Given the description of an element on the screen output the (x, y) to click on. 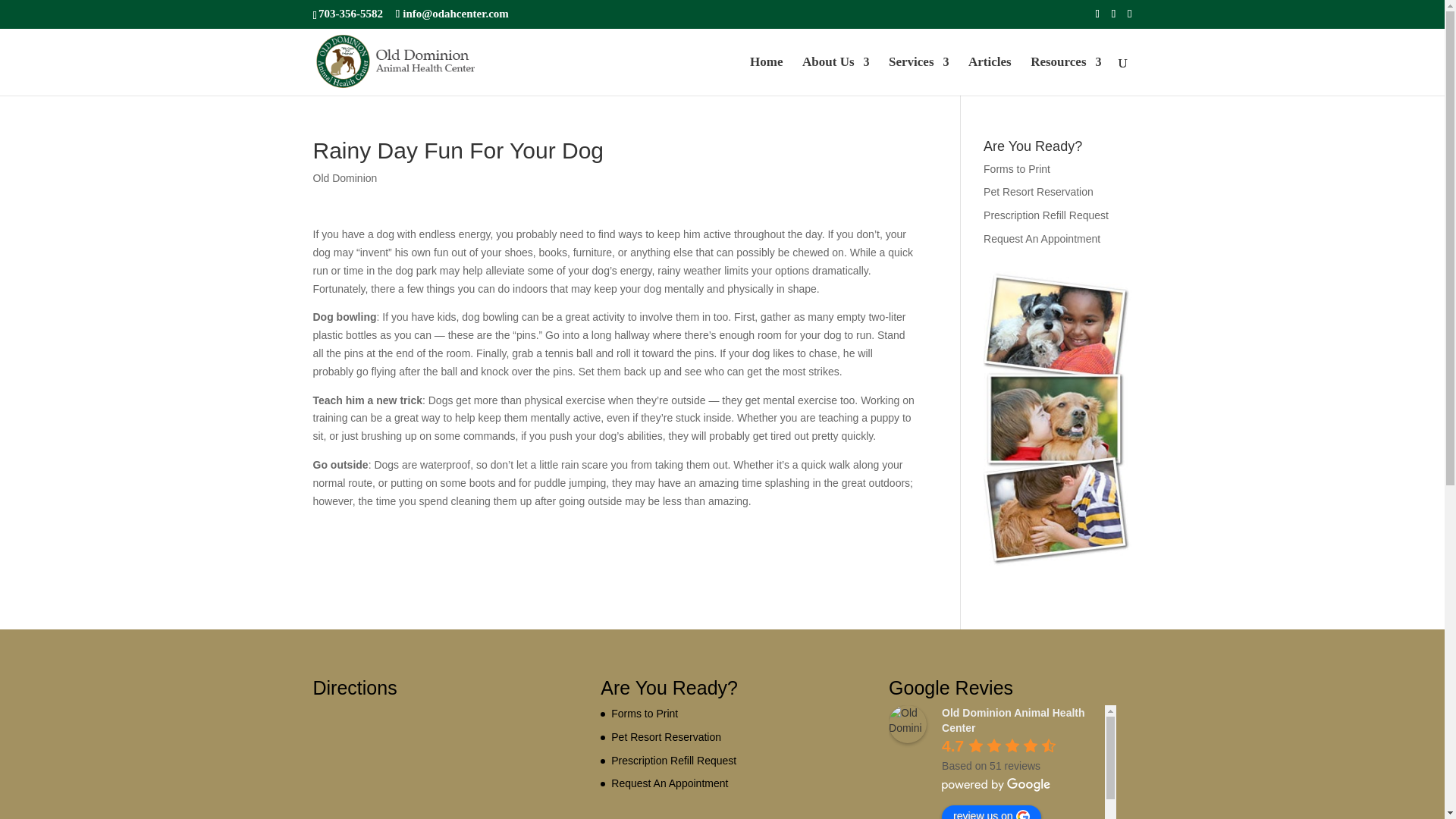
Services (918, 75)
Articles (989, 75)
powered by Google (996, 784)
Old Dominion Animal Health Center (907, 723)
About Us (835, 75)
Resources (1065, 75)
